Given the description of an element on the screen output the (x, y) to click on. 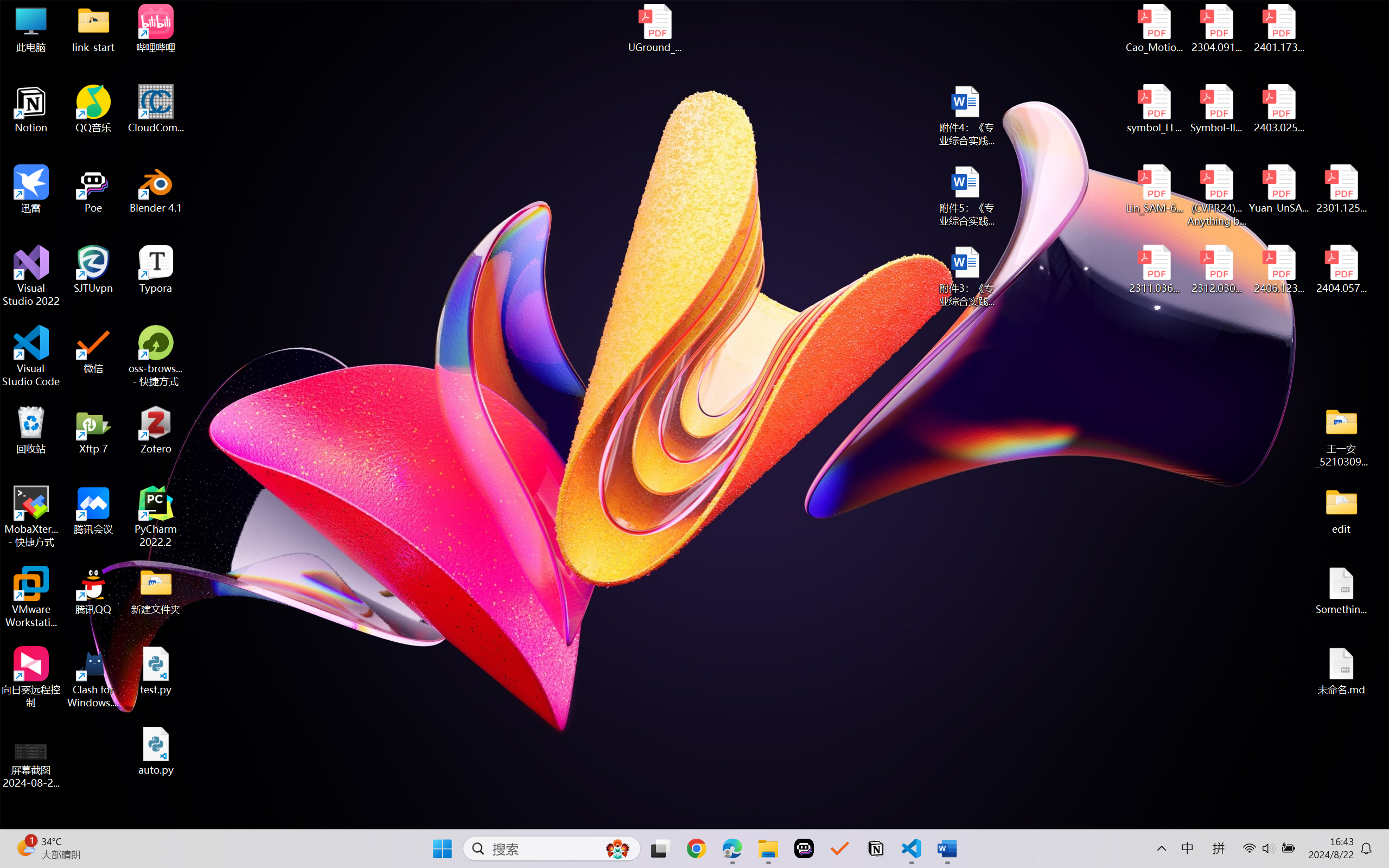
edit (1340, 510)
UGround_paper.pdf (654, 28)
2304.09121v3.pdf (1216, 28)
test.py (156, 670)
CloudCompare (156, 109)
